Given the description of an element on the screen output the (x, y) to click on. 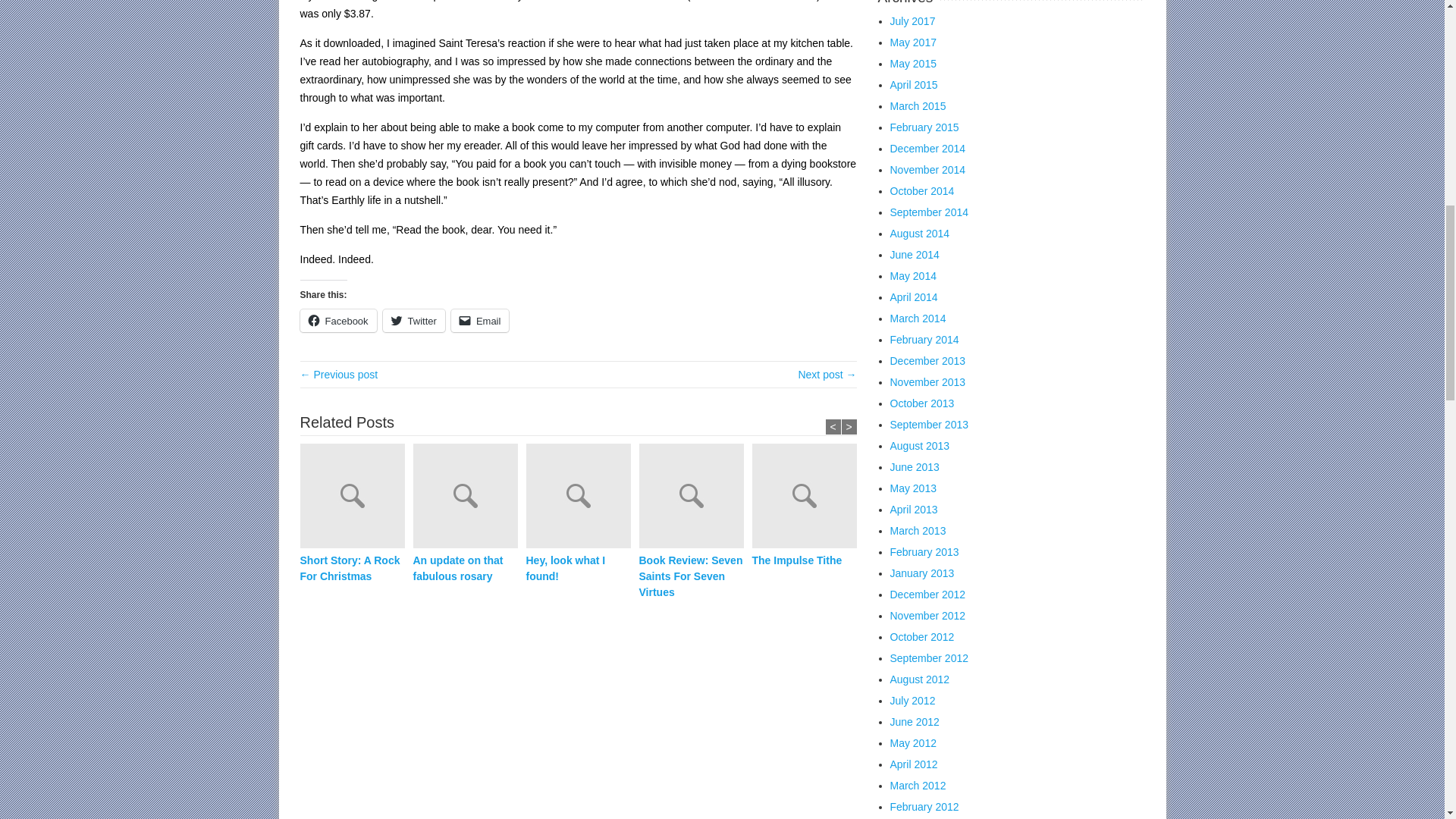
Short Story: A Rock For Christmas (351, 568)
"Was that quick enough?" (338, 374)
An update on that fabulous rosary (468, 497)
Click to email a link to a friend (480, 320)
Short Story: A Rock For Christmas (356, 497)
Book Review: Seven Saints For Seven Virtues (695, 497)
Click to share on Twitter (413, 320)
Click to share on Facebook (338, 320)
Book Review: Seven Saints For Seven Virtues (690, 576)
Twitter (413, 320)
Short Story: A Rock For Christmas (351, 568)
An update on that fabulous rosary (464, 568)
Hey, look what I found! (577, 568)
Email (480, 320)
Book Review: Seven Saints For Seven Virtues (690, 576)
